Given the description of an element on the screen output the (x, y) to click on. 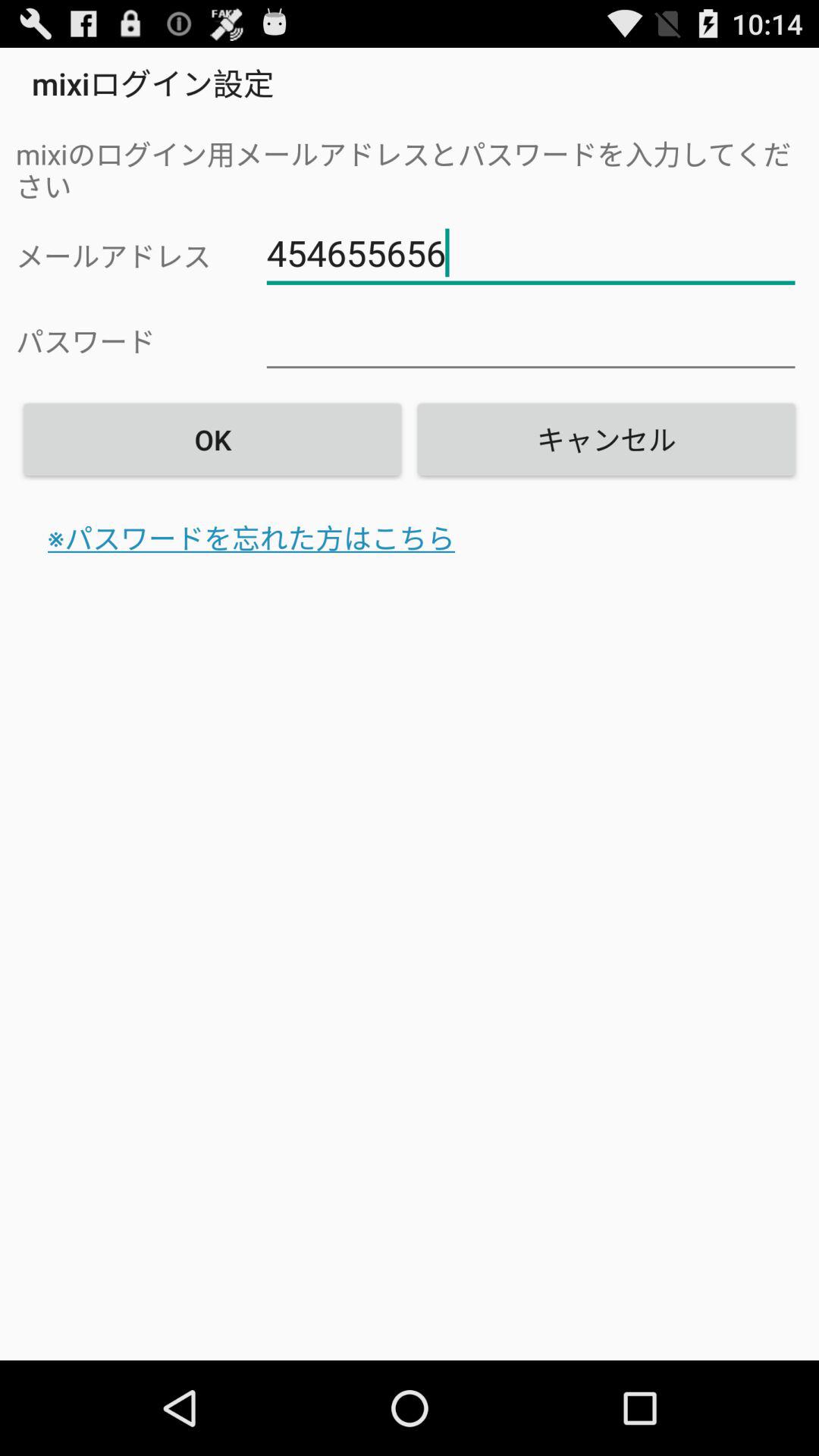
select item to the right of the ok icon (606, 439)
